Given the description of an element on the screen output the (x, y) to click on. 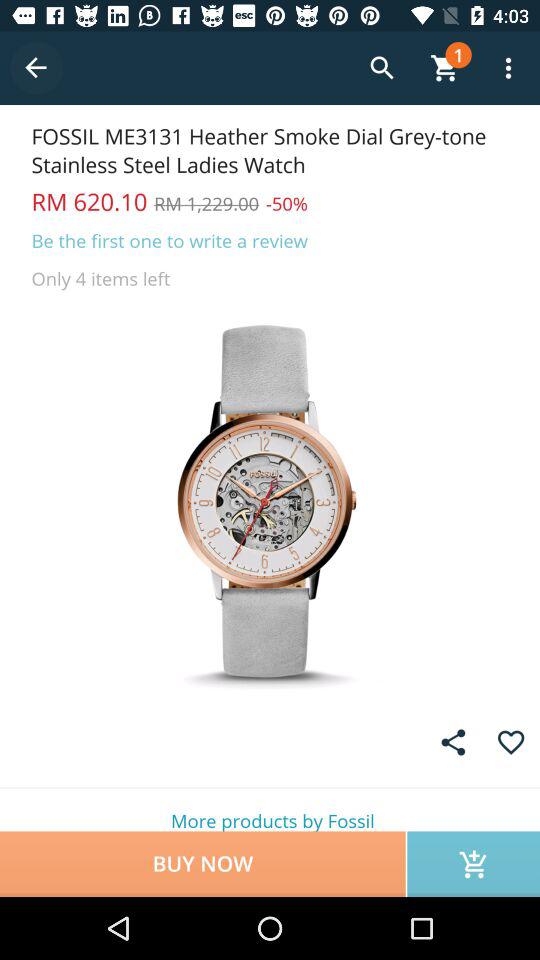
report this image (453, 742)
